Given the description of an element on the screen output the (x, y) to click on. 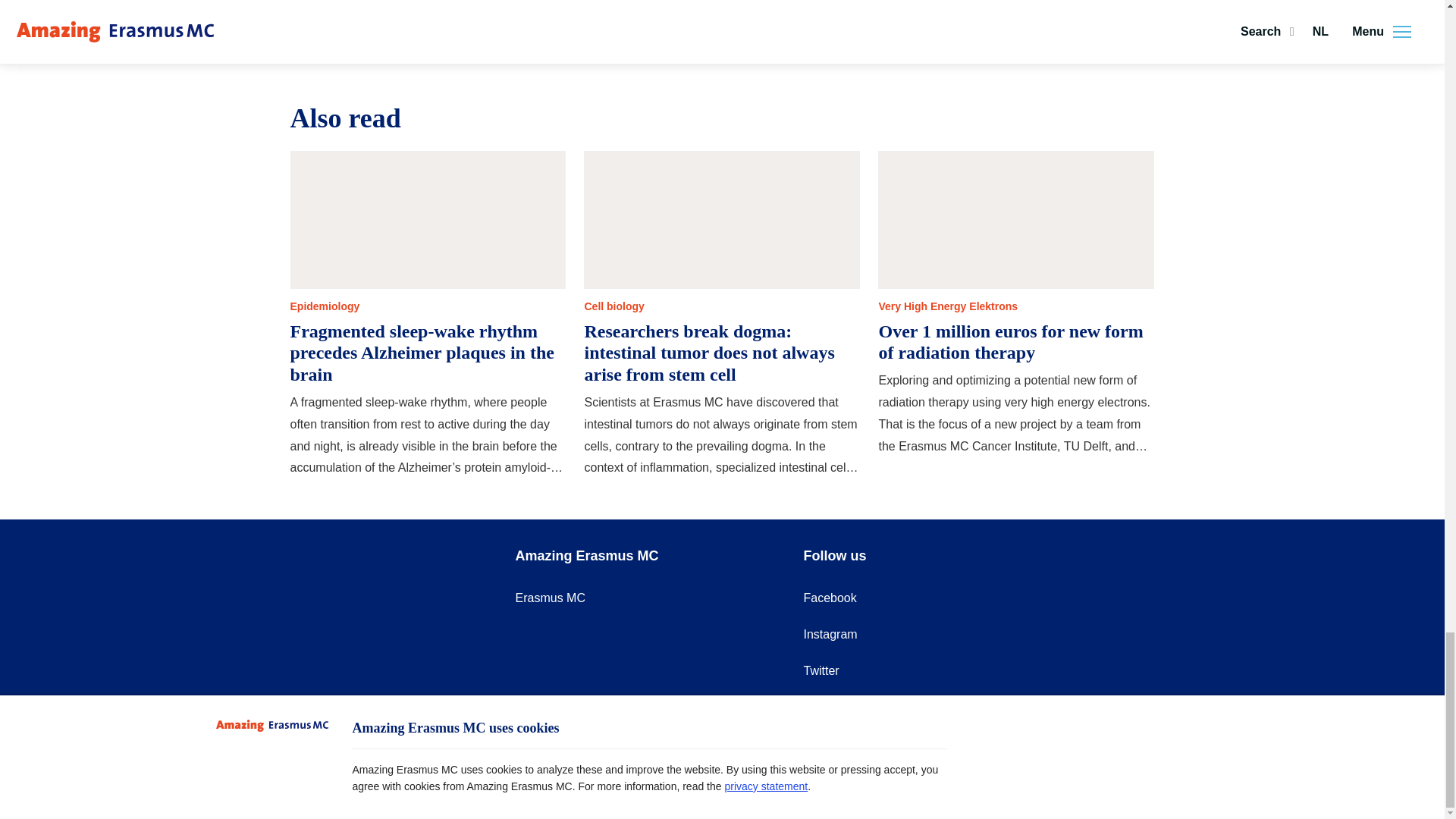
Erasmus MC (550, 597)
LinkedIn (825, 707)
Facebook (829, 597)
Twitter (820, 670)
Instagram (830, 634)
donation (513, 10)
Disclaimer (832, 775)
Cookies (760, 775)
